Given the description of an element on the screen output the (x, y) to click on. 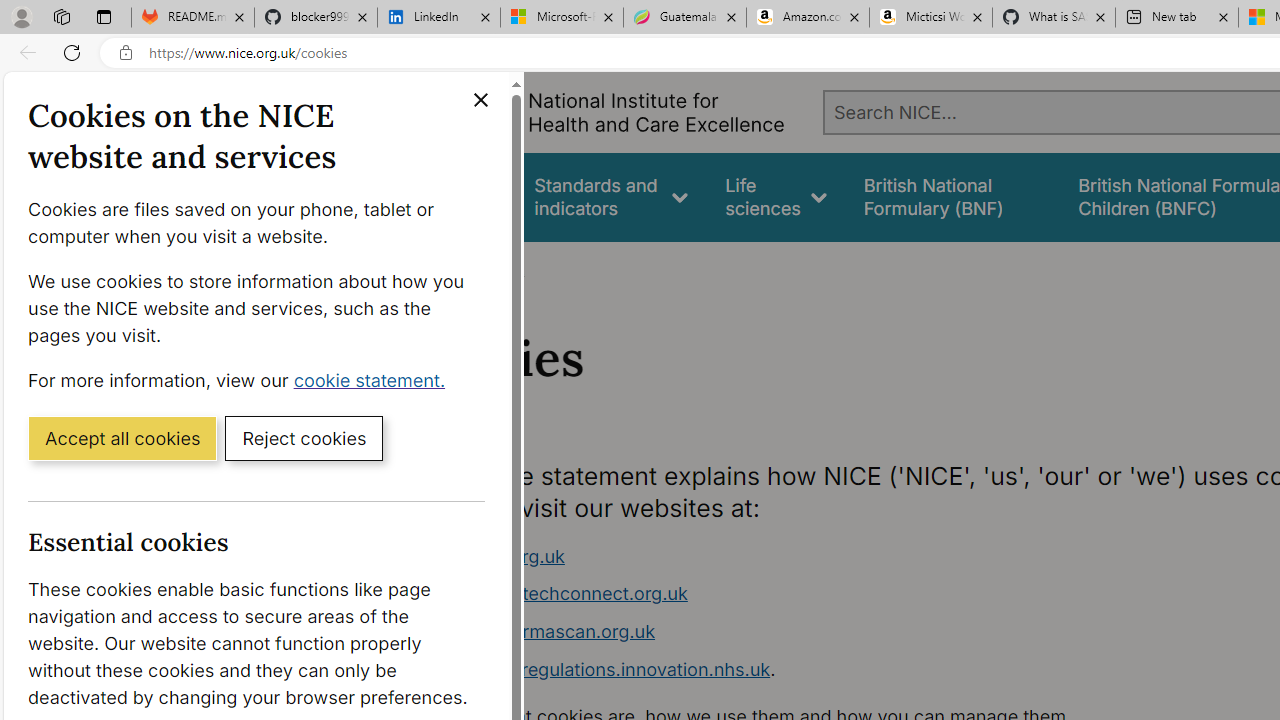
www.healthtechconnect.org.uk (554, 593)
www.digitalregulations.innovation.nhs.uk (595, 668)
www.ukpharmascan.org.uk (796, 632)
Accept all cookies (122, 437)
www.healthtechconnect.org.uk (796, 594)
Close cookie banner (480, 99)
Guidance (458, 196)
Life sciences (776, 196)
www.nice.org.uk (492, 556)
www.ukpharmascan.org.uk (538, 631)
cookie statement. (Opens in a new window) (373, 379)
false (952, 196)
